Given the description of an element on the screen output the (x, y) to click on. 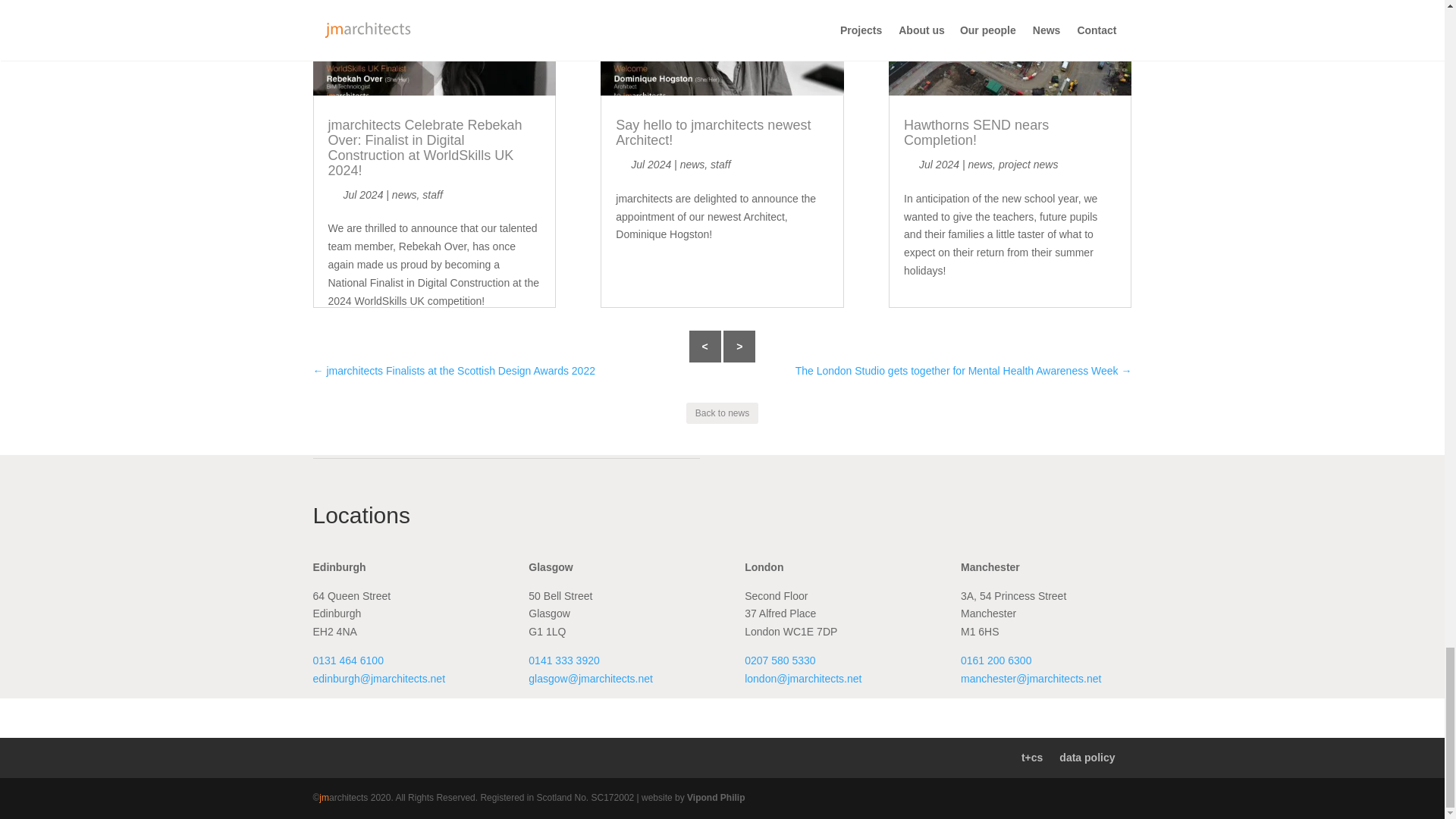
staff (432, 194)
Say hello to jmarchitects newest Architect! (712, 132)
news (403, 194)
